Given the description of an element on the screen output the (x, y) to click on. 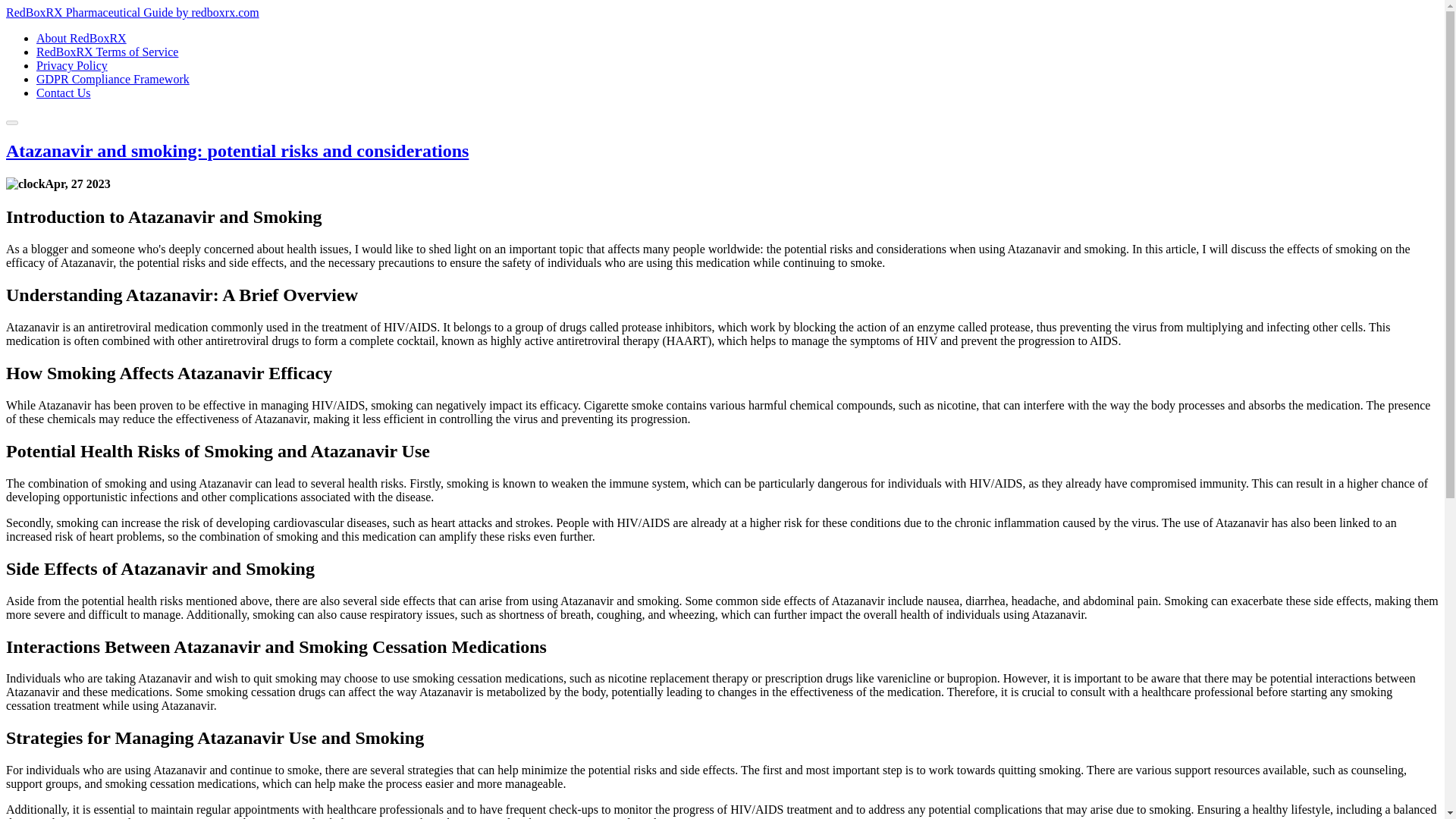
RedBoxRX Pharmaceutical Guide by redboxrx.com (132, 11)
Contact Us (63, 92)
Privacy Policy (71, 65)
About RedBoxRX (81, 38)
RedBoxRX Terms of Service (106, 51)
GDPR Compliance Framework (112, 78)
